Given the description of an element on the screen output the (x, y) to click on. 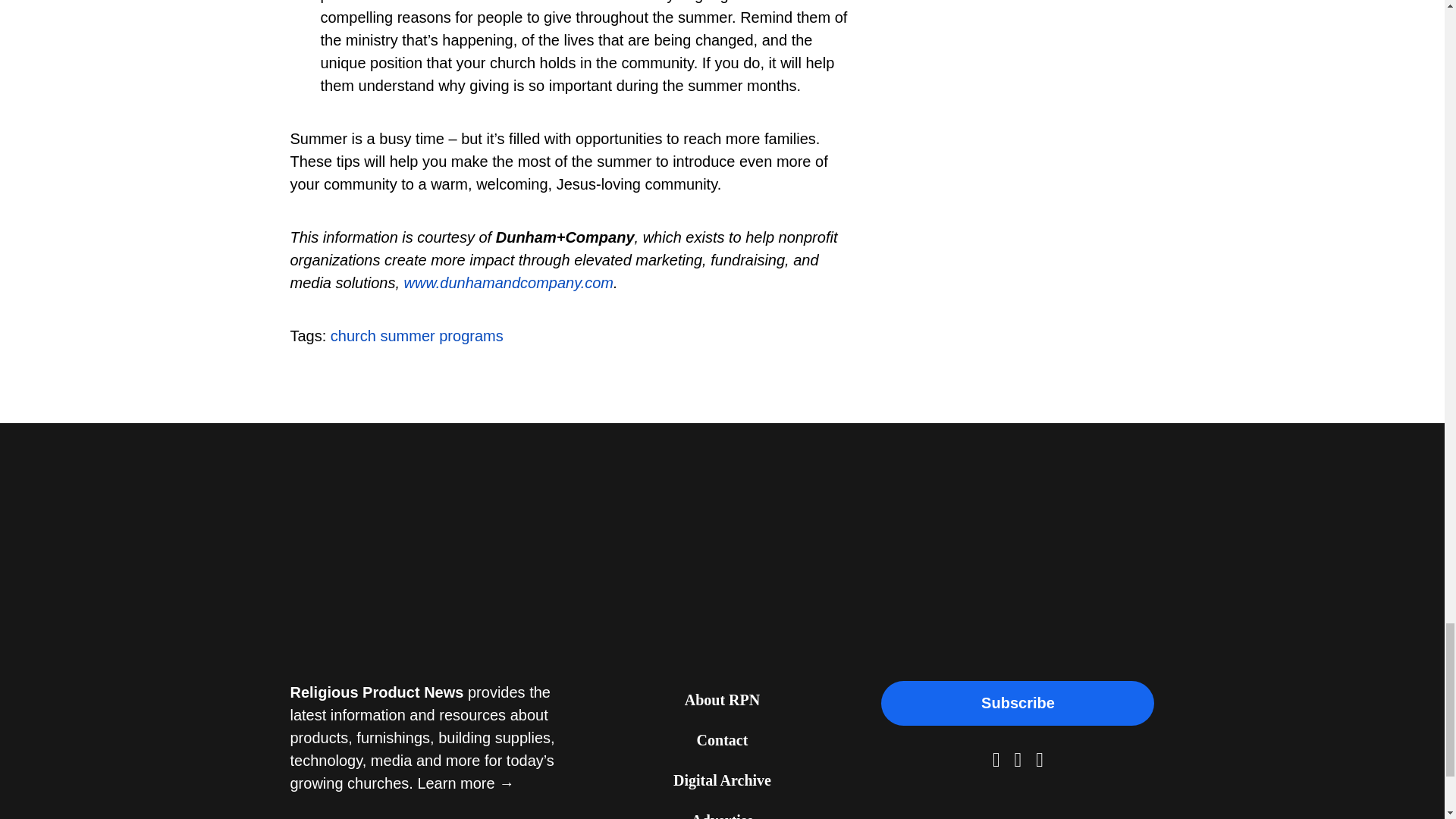
church summer programs (416, 335)
Contact (722, 741)
About RPN (722, 700)
www.dunhamandcompany.com (508, 282)
Digital Archive (721, 781)
